Given the description of an element on the screen output the (x, y) to click on. 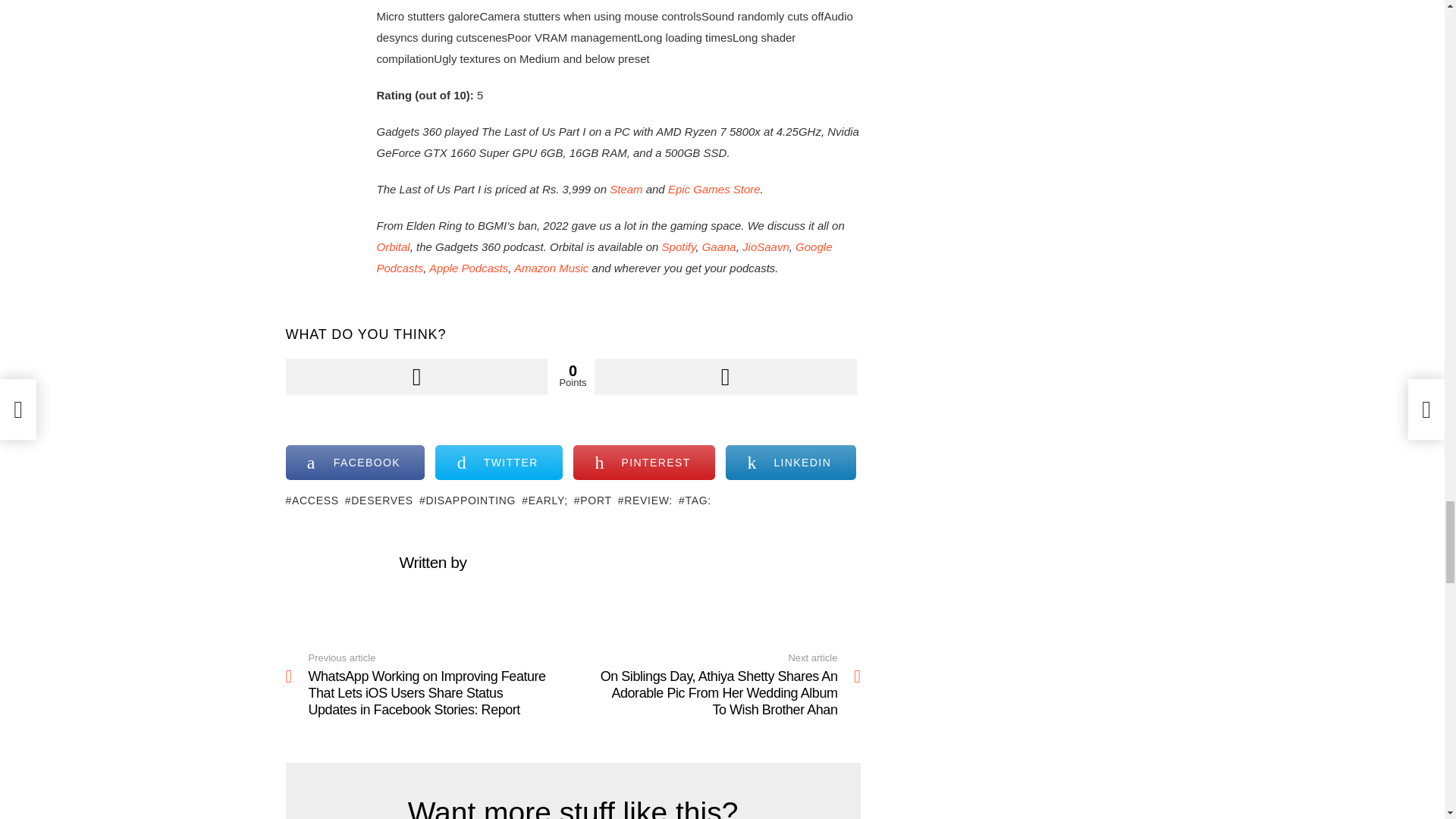
Downvote (725, 376)
Upvote (416, 376)
Share on Facebook (355, 462)
